Given the description of an element on the screen output the (x, y) to click on. 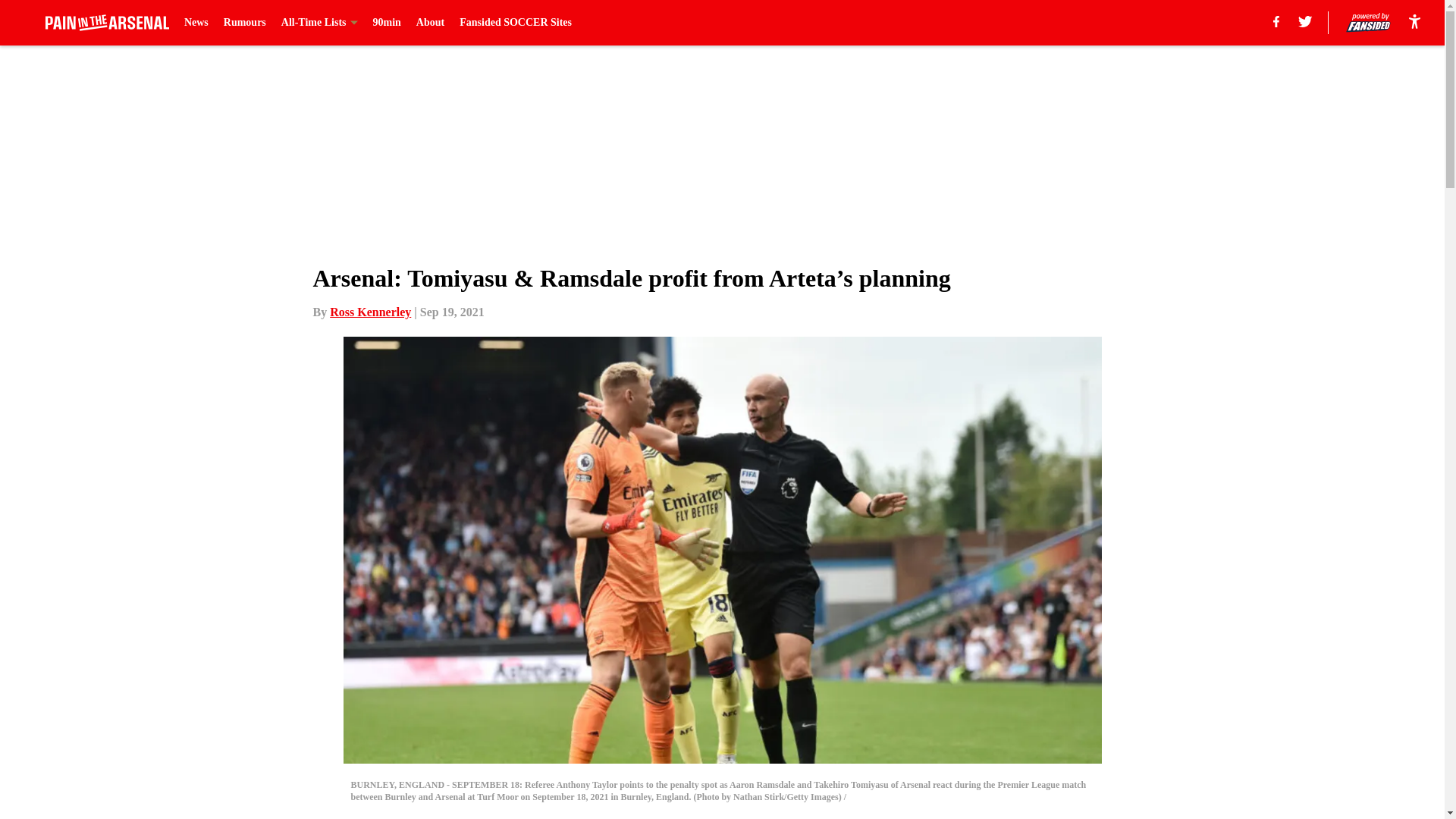
Fansided SOCCER Sites (516, 22)
About (430, 22)
Ross Kennerley (370, 311)
Rumours (245, 22)
News (196, 22)
90min (386, 22)
